Given the description of an element on the screen output the (x, y) to click on. 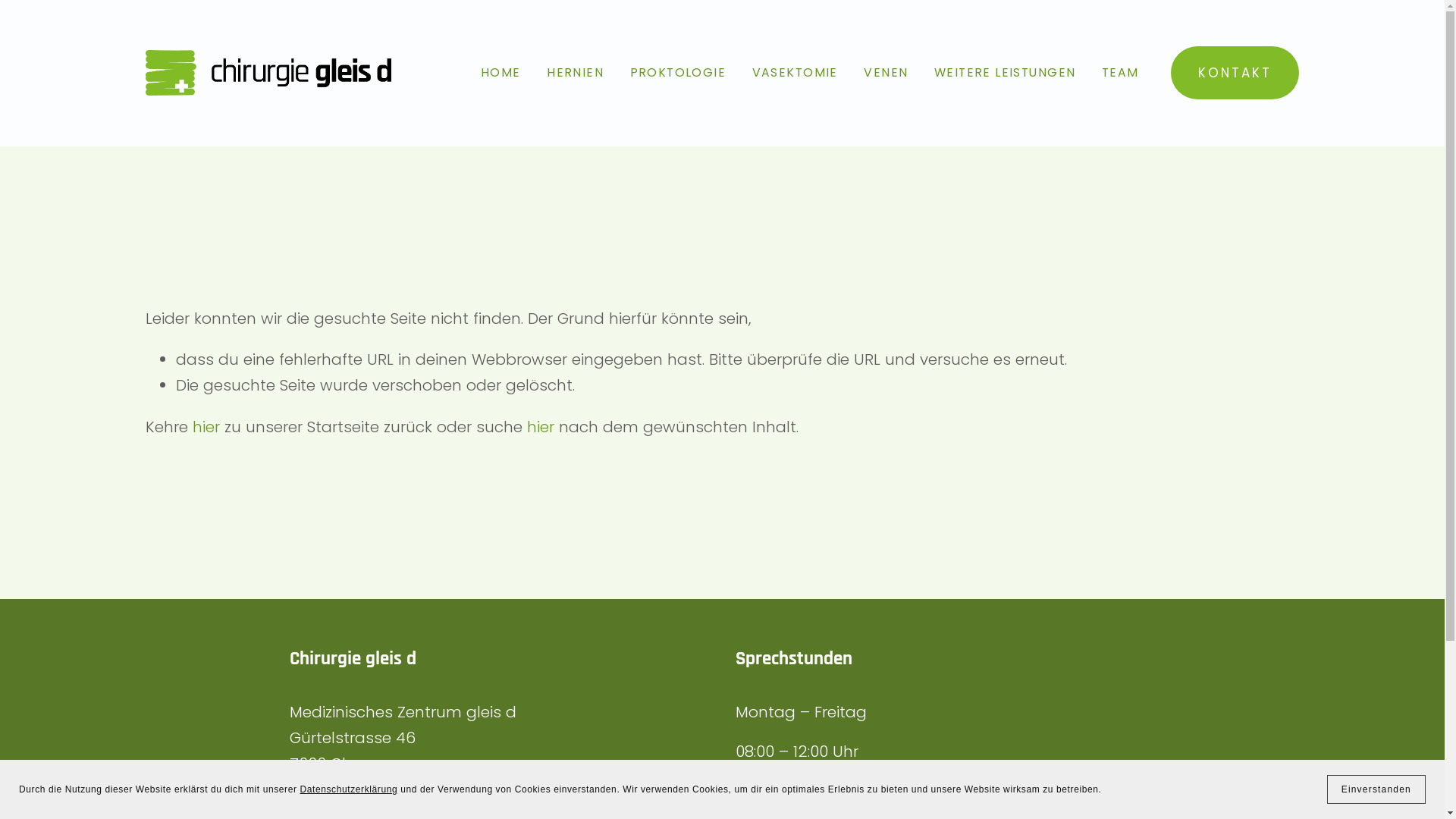
081 287 70 85 Element type: text (339, 802)
KONTAKT Element type: text (1234, 72)
hier Element type: text (205, 426)
TEAM Element type: text (1120, 72)
hier Element type: text (540, 426)
VENEN Element type: text (885, 72)
HOME Element type: text (500, 72)
HERNIEN Element type: text (574, 72)
WEITERE LEISTUNGEN Element type: text (1004, 72)
VASEKTOMIE Element type: text (794, 72)
PROKTOLOGIE Element type: text (678, 72)
Einverstanden Element type: text (1376, 789)
